Given the description of an element on the screen output the (x, y) to click on. 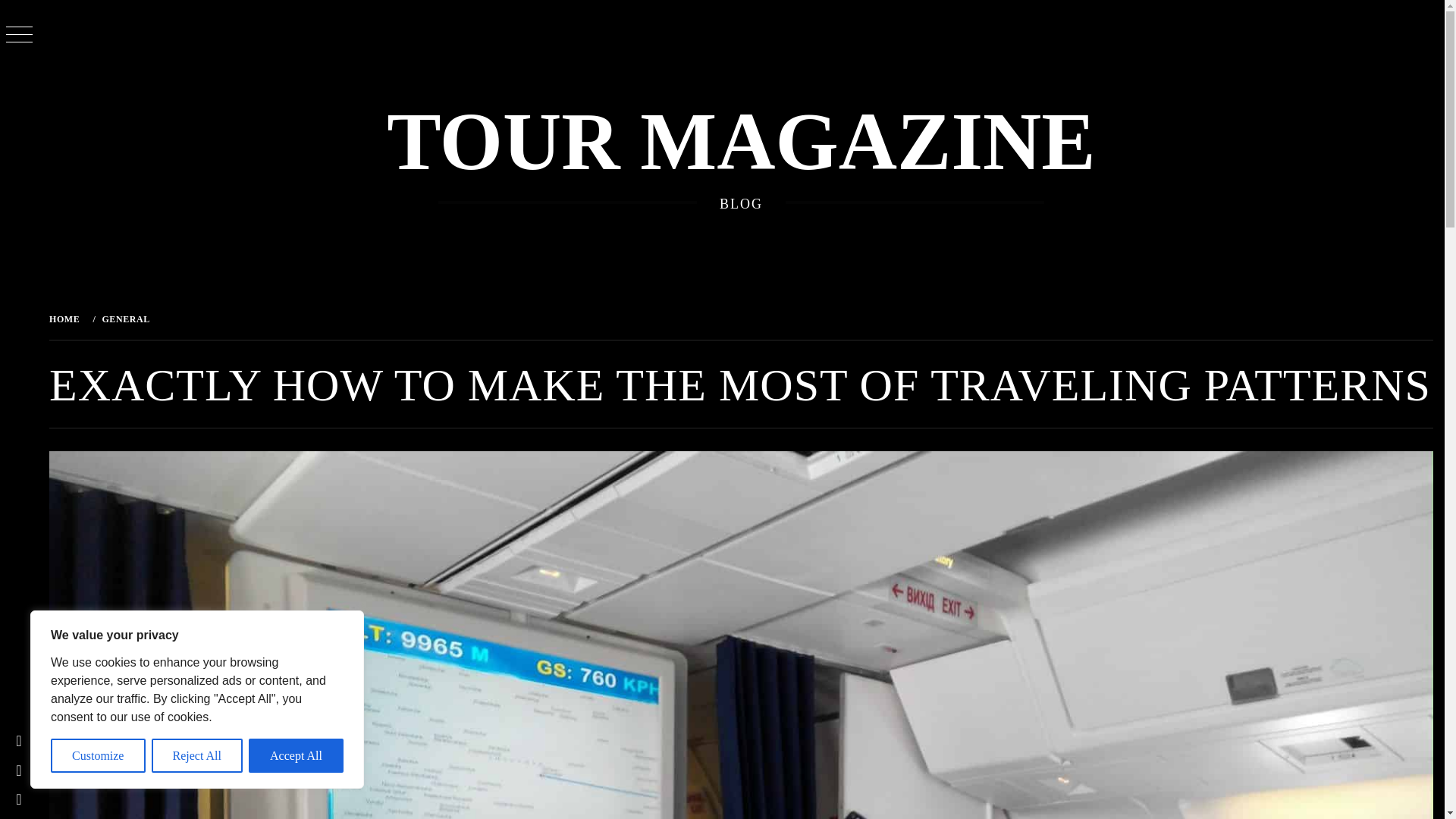
Customize (97, 755)
TOUR MAGAZINE (740, 141)
Reject All (197, 755)
GENERAL (124, 318)
HOME (66, 318)
EXACTLY HOW TO MAKE THE MOST OF TRAVELING PATTERNS (323, 318)
Accept All (295, 755)
